Given the description of an element on the screen output the (x, y) to click on. 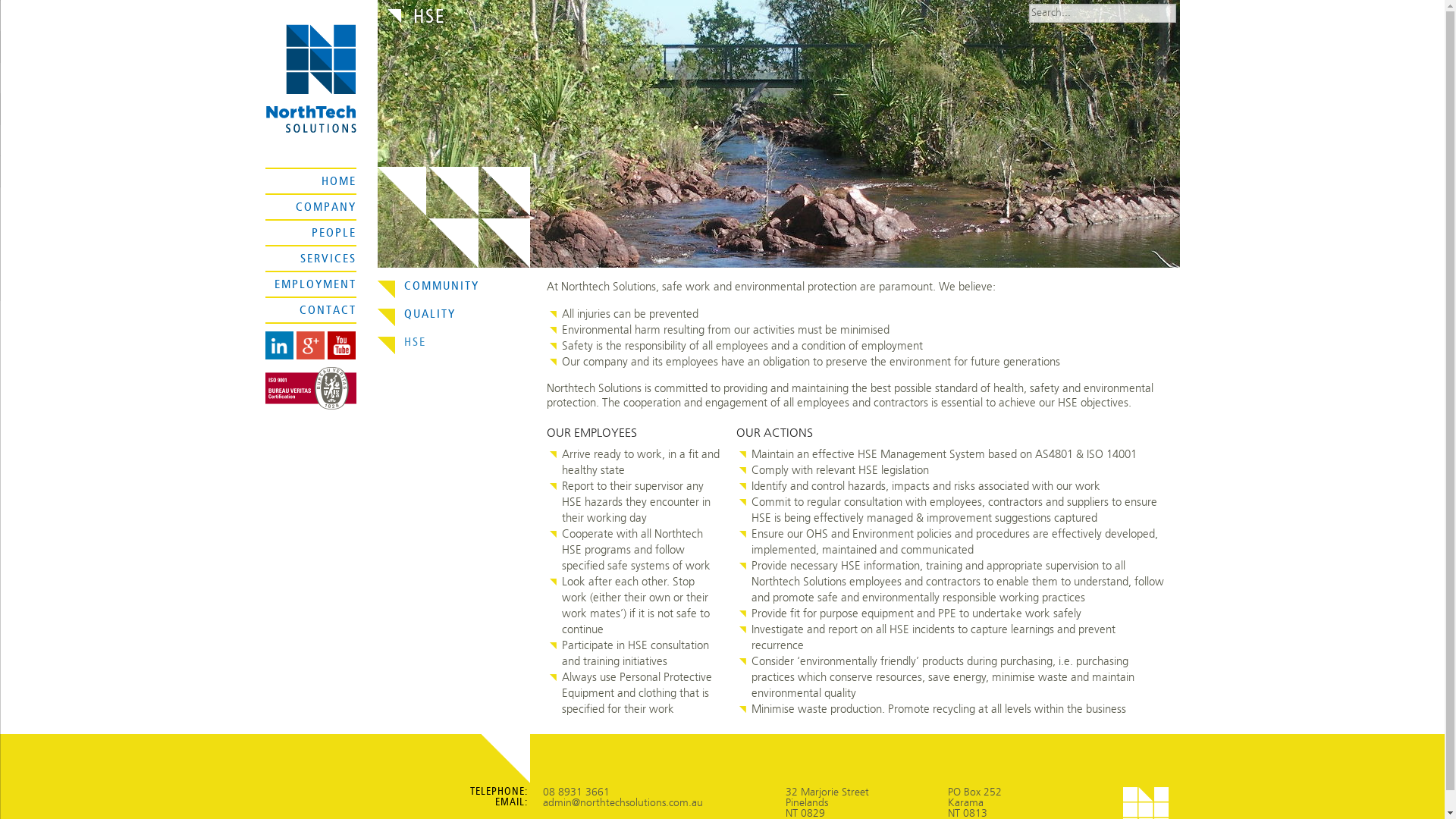
QUALITY Element type: text (456, 318)
admin@northtechsolutions.com.au Element type: text (622, 802)
CONTACT Element type: text (326, 310)
HSE Element type: text (456, 346)
PEOPLE Element type: text (332, 233)
EMPLOYMENT Element type: text (315, 284)
SERVICES Element type: text (328, 258)
HOME Element type: text (338, 181)
COMPANY Element type: text (325, 207)
COMMUNITY Element type: text (456, 290)
